Given the description of an element on the screen output the (x, y) to click on. 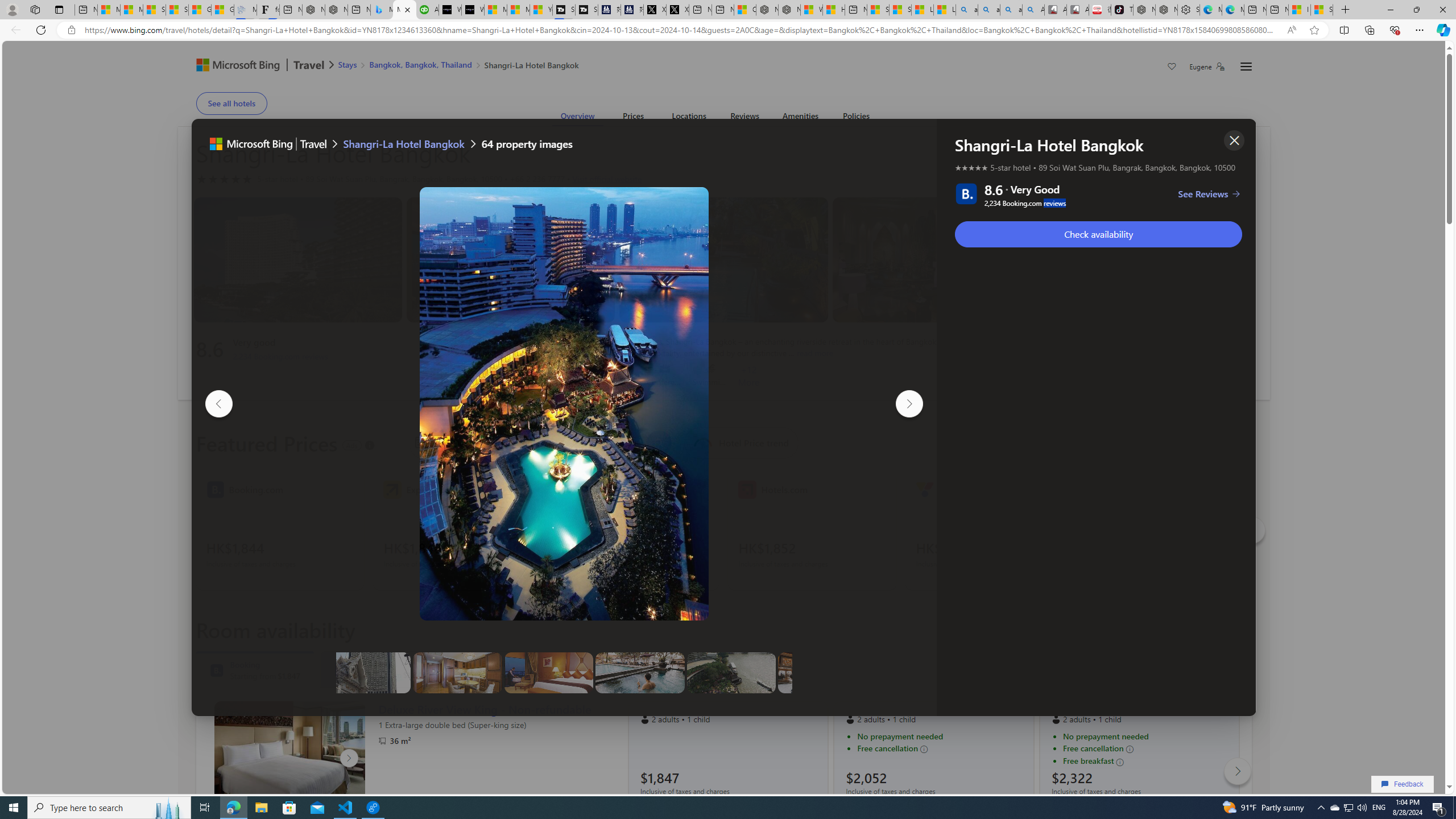
Microsoft Bing Travel - Shangri-La Hotel Bangkok (404, 9)
Huge shark washes ashore at New York City beach | Watch (834, 9)
